Given the description of an element on the screen output the (x, y) to click on. 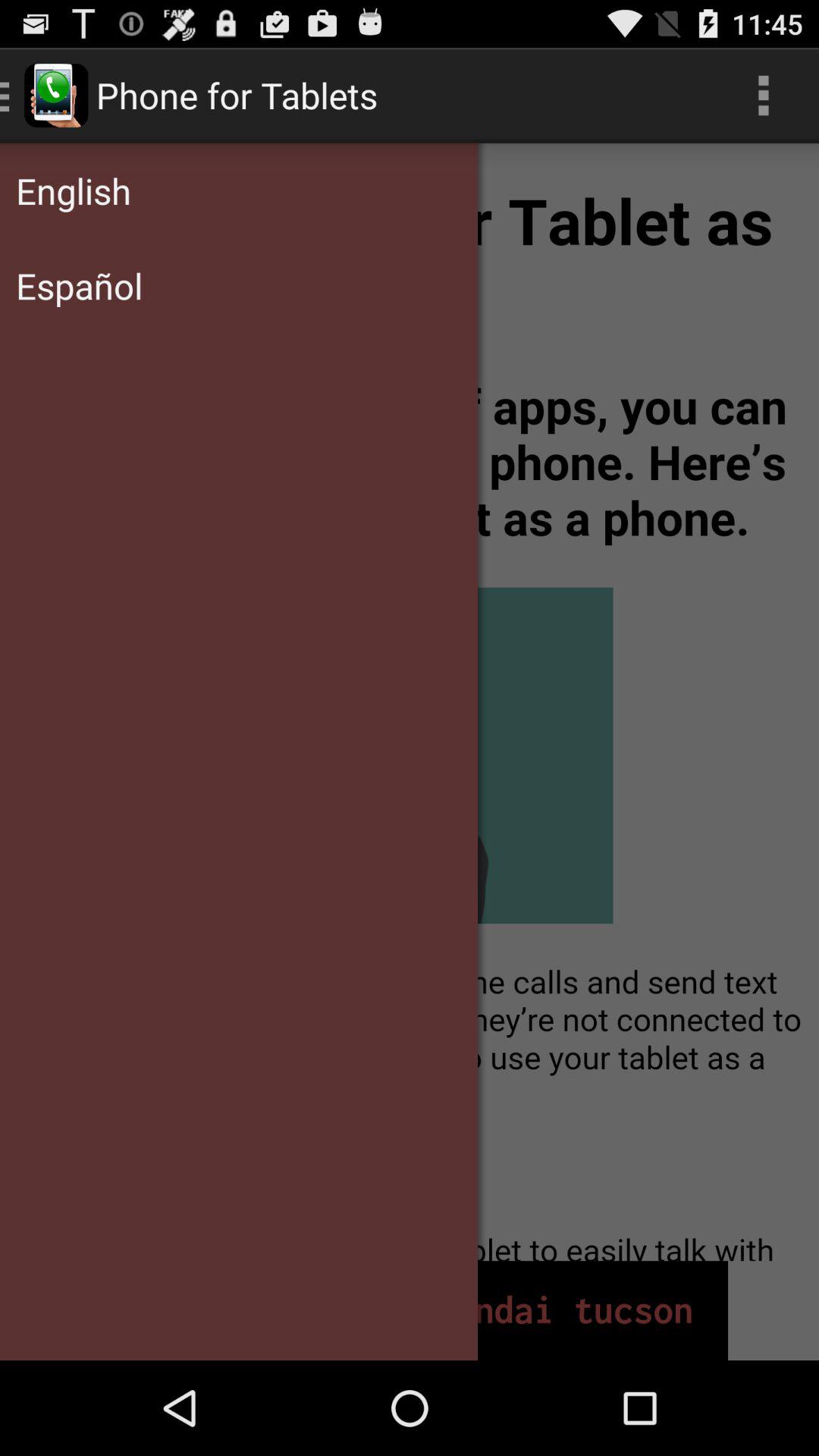
select english or spanish (409, 701)
